Given the description of an element on the screen output the (x, y) to click on. 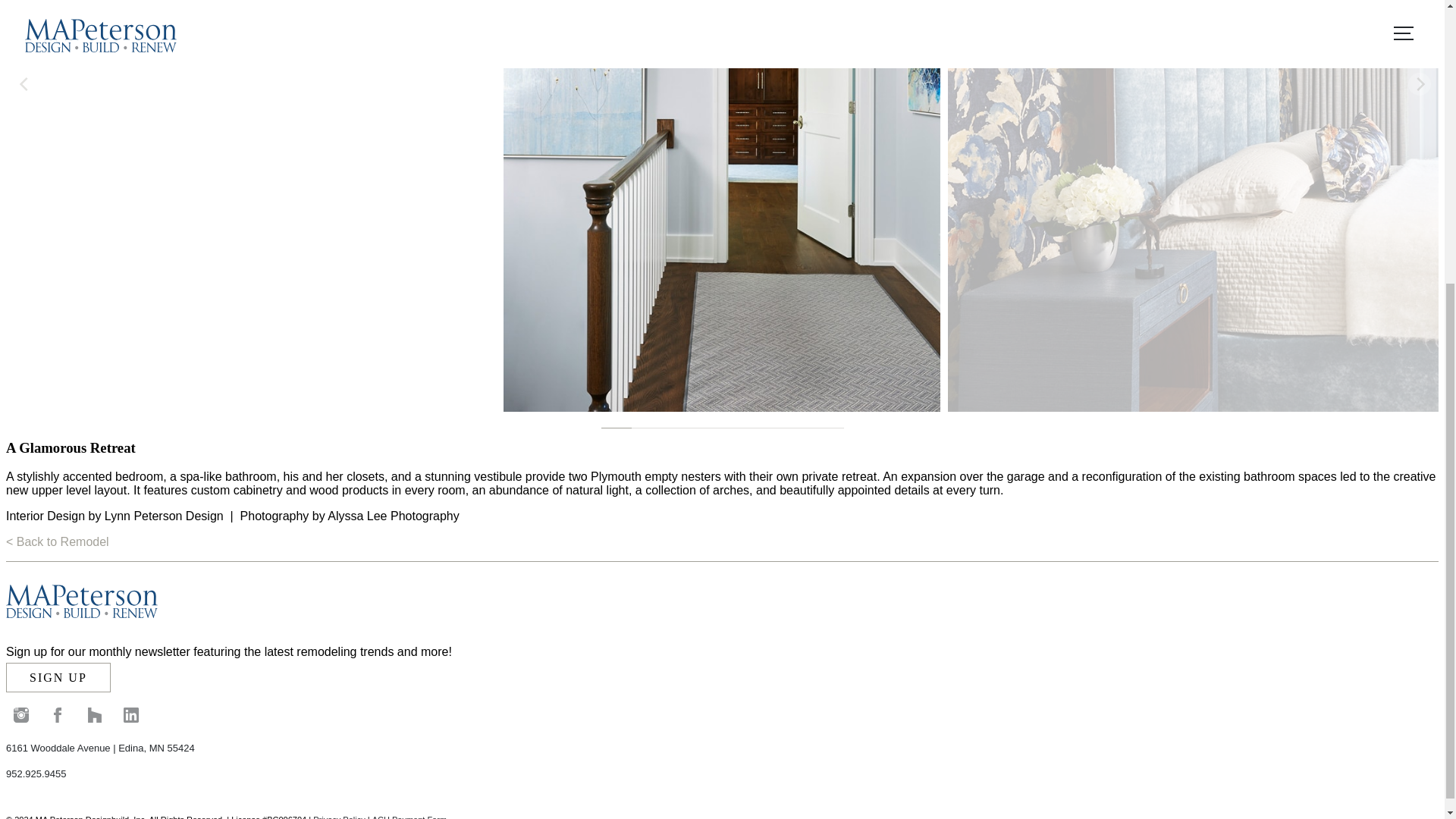
952.925.9455 (35, 773)
SIGN UP (57, 677)
